Given the description of an element on the screen output the (x, y) to click on. 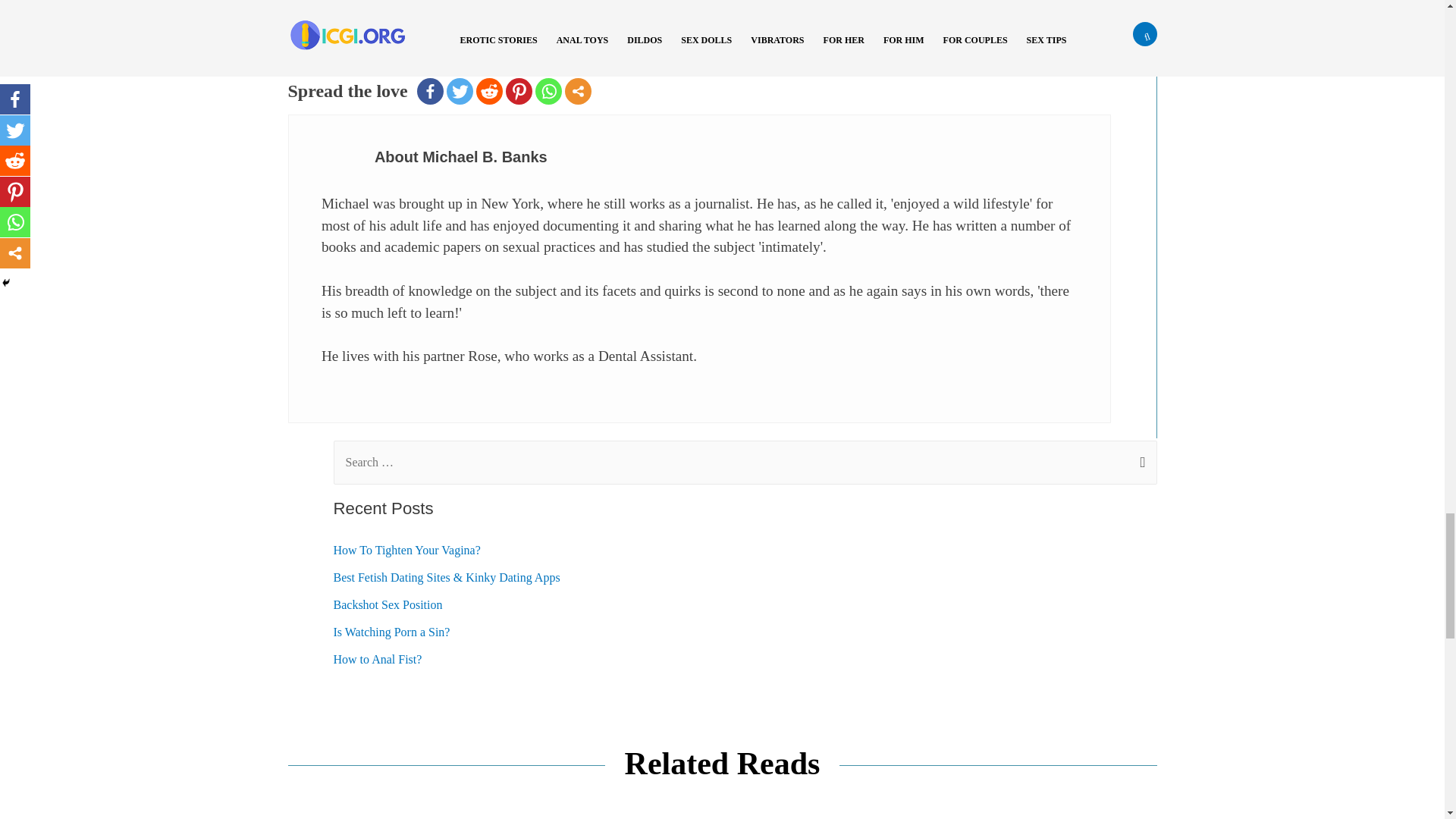
How To Tighten Your Vagina? (406, 549)
Facebook (430, 90)
Search (1139, 446)
Search (1139, 446)
Twitter (459, 90)
Reddit (489, 90)
Whatsapp (548, 90)
Search (1139, 446)
More (577, 90)
Pinterest (518, 90)
